Given the description of an element on the screen output the (x, y) to click on. 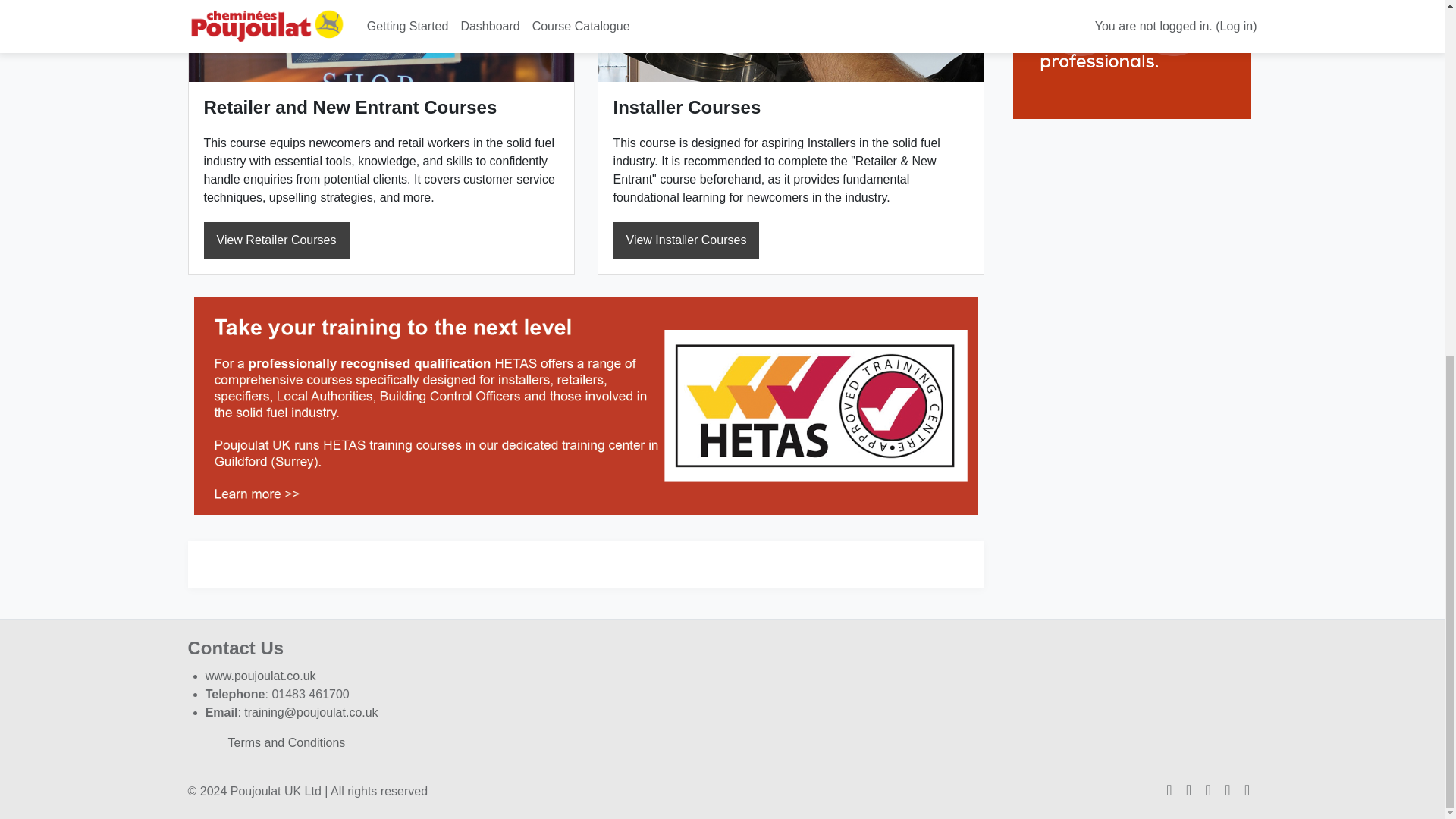
Youtube (1227, 789)
Terms and Conditions (287, 742)
www.poujoulat.co.uk (260, 675)
Instagram (1247, 789)
LinkedIn (1207, 789)
View Retailer Courses (276, 239)
Facebook (1188, 789)
Twitter (1168, 789)
View Installer Courses (685, 239)
